Given the description of an element on the screen output the (x, y) to click on. 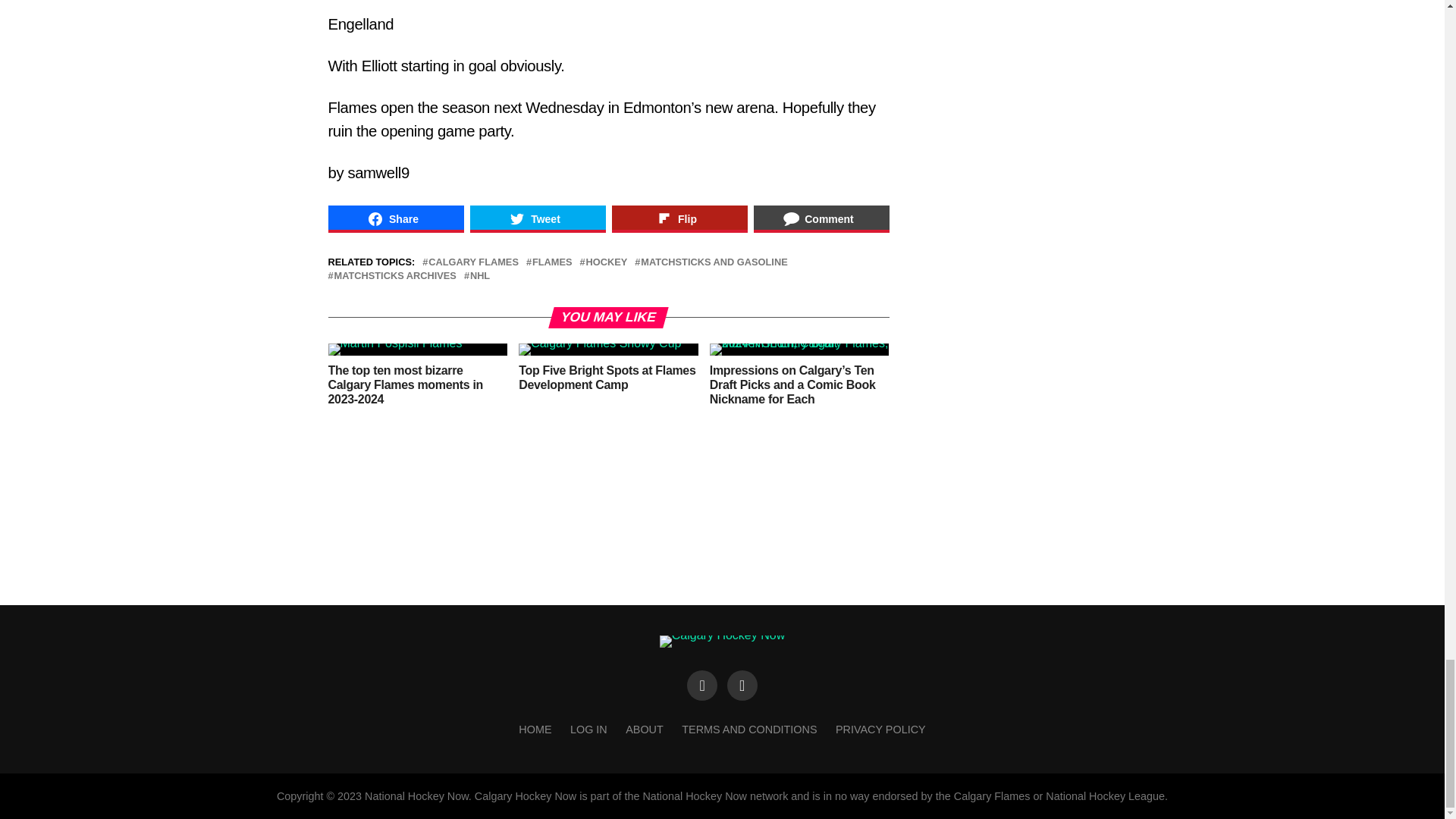
Share on Flip (678, 218)
Share on Share (395, 218)
Share on Tweet (537, 218)
Share on Comment (821, 218)
